Given the description of an element on the screen output the (x, y) to click on. 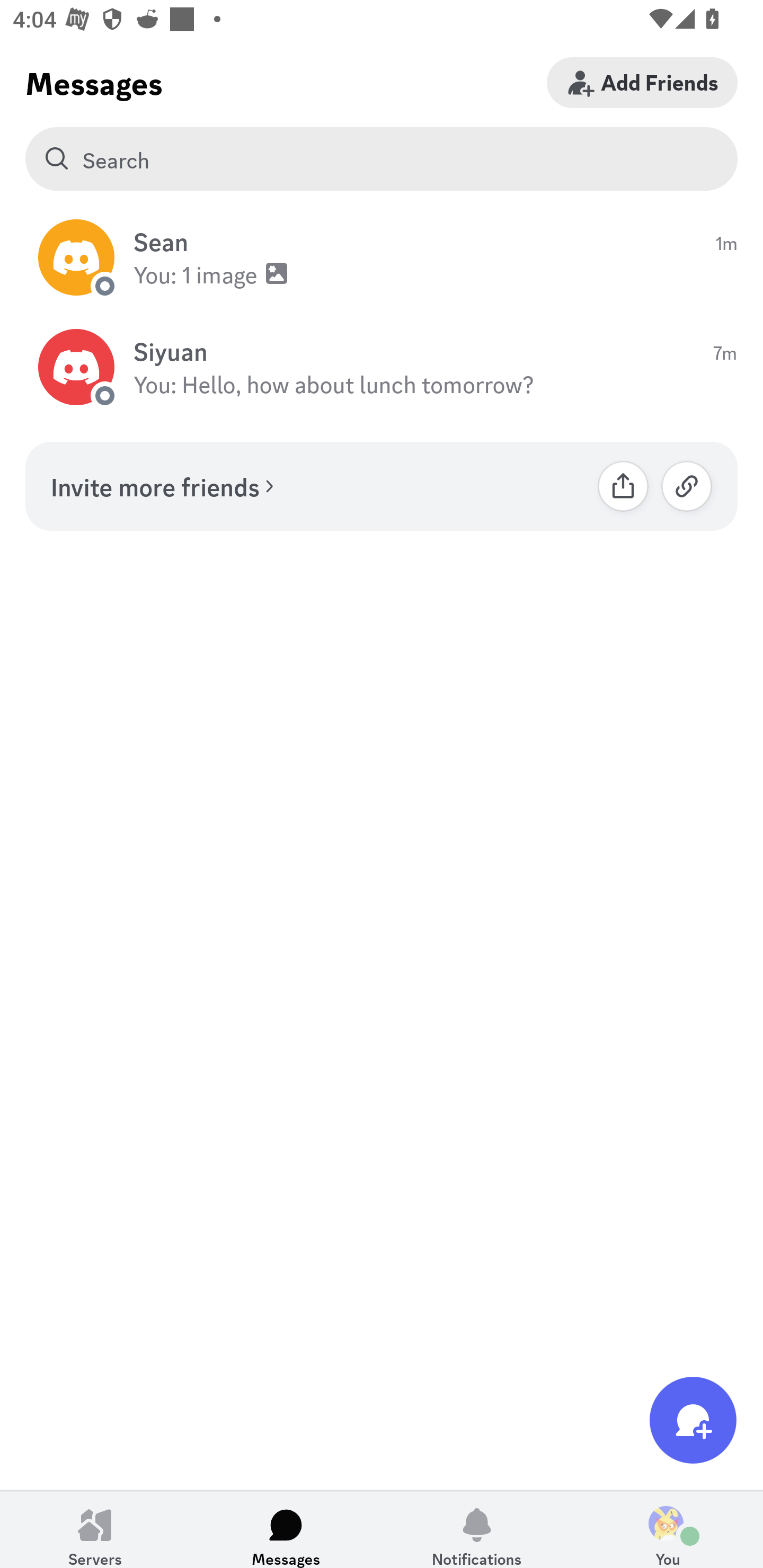
Add Friends (642, 82)
Search (381, 159)
Sean (direct message) Sean 1m You: 1 image (381, 257)
Share Link (622, 485)
Copy Link (686, 485)
New Message (692, 1419)
Servers (95, 1529)
Messages (285, 1529)
Notifications (476, 1529)
You (667, 1529)
